Given the description of an element on the screen output the (x, y) to click on. 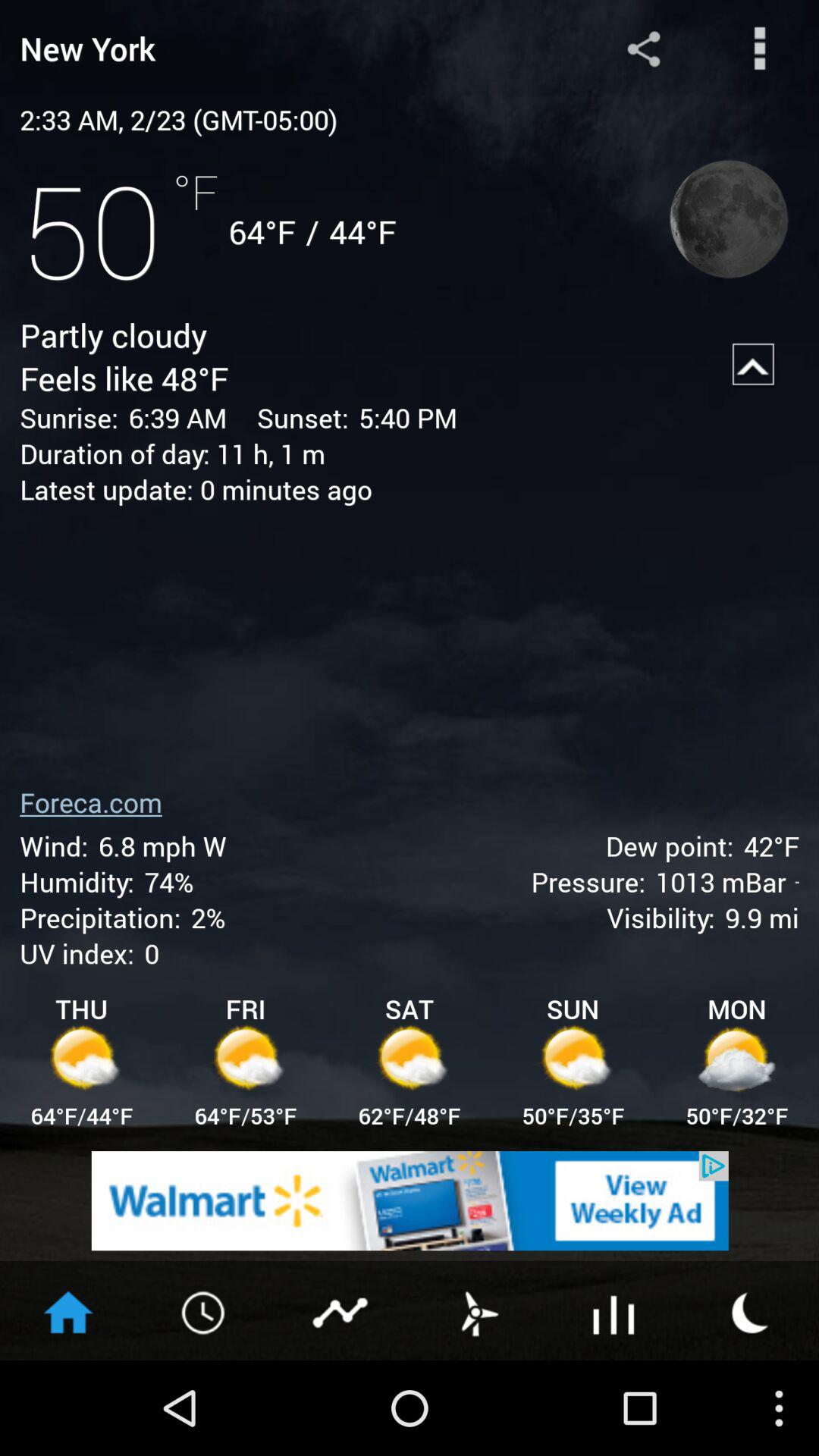
show graphics (341, 1311)
